Given the description of an element on the screen output the (x, y) to click on. 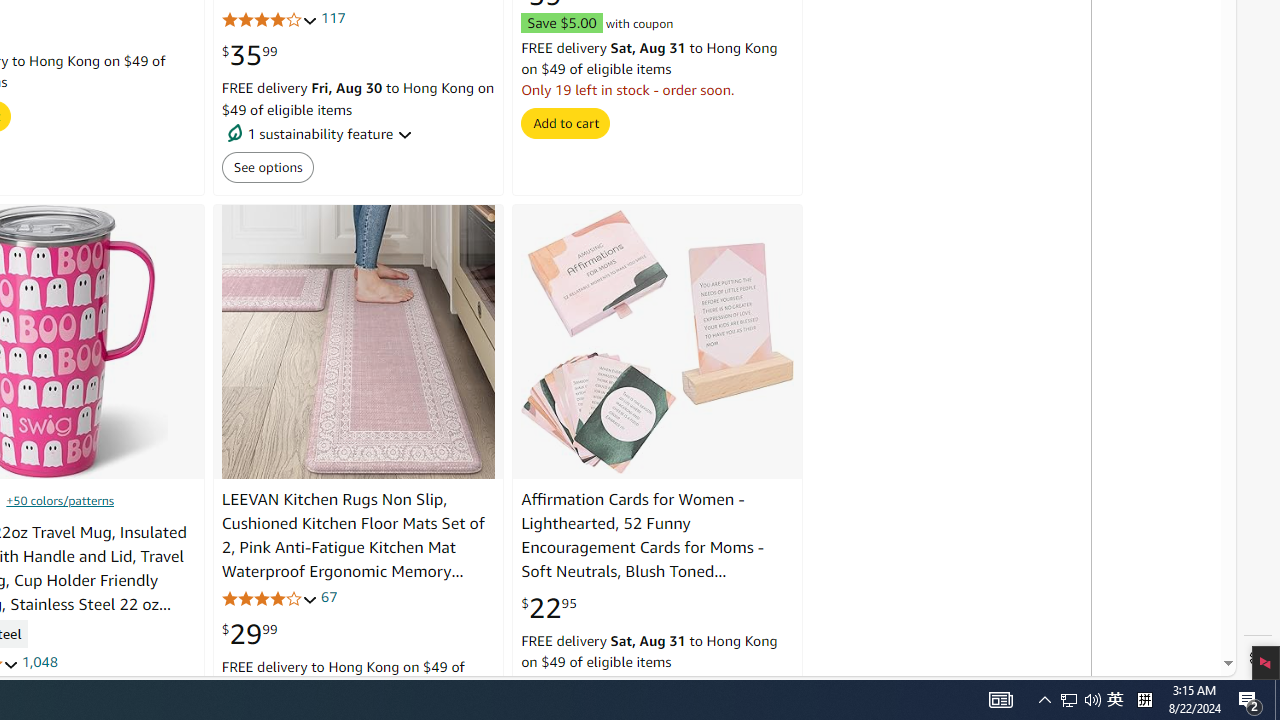
+50 colors/patterns (60, 499)
$29.99 (249, 634)
